Given the description of an element on the screen output the (x, y) to click on. 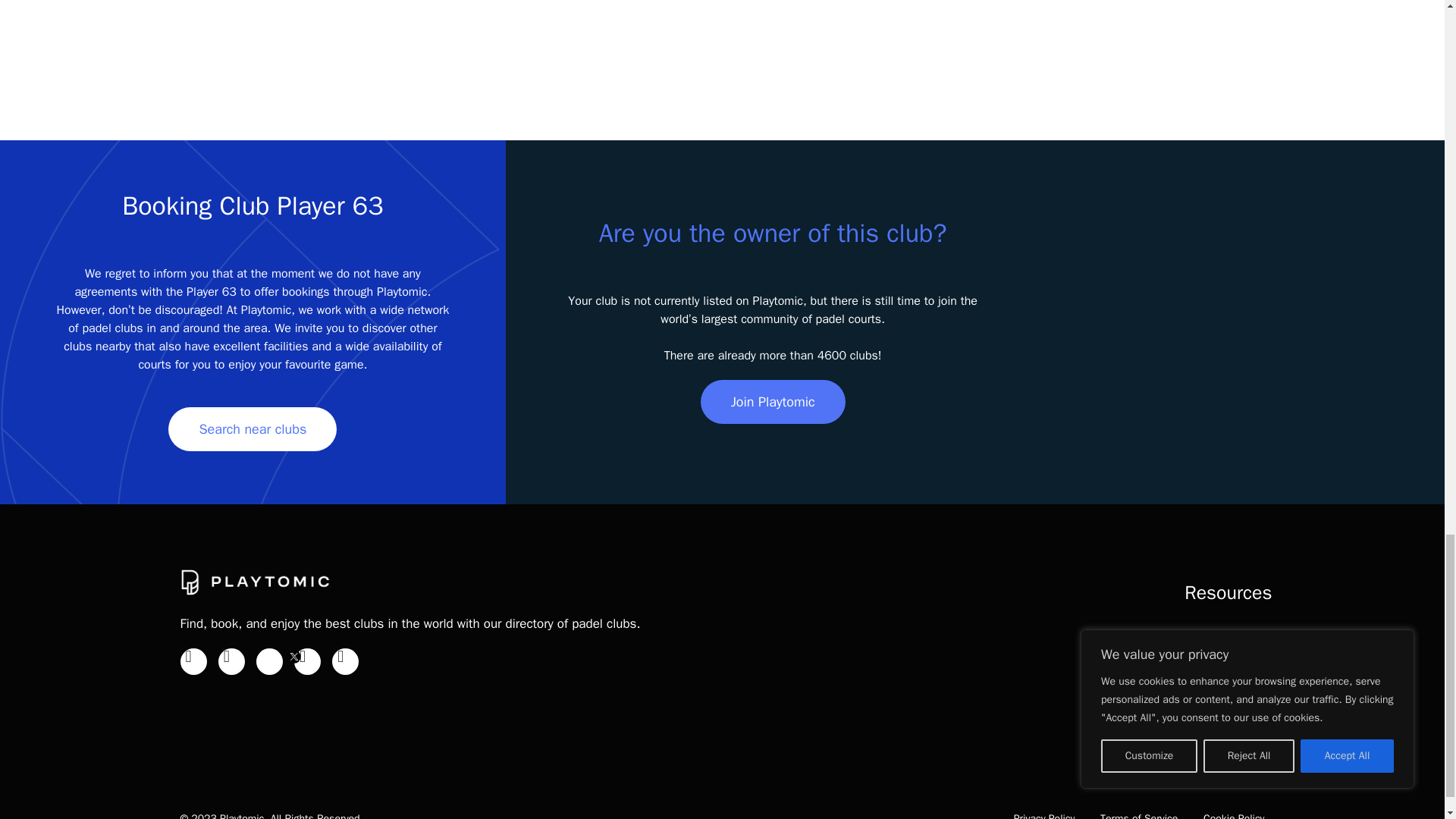
Join Playtomic (772, 402)
News (1256, 644)
Search near clubs (252, 429)
